Given the description of an element on the screen output the (x, y) to click on. 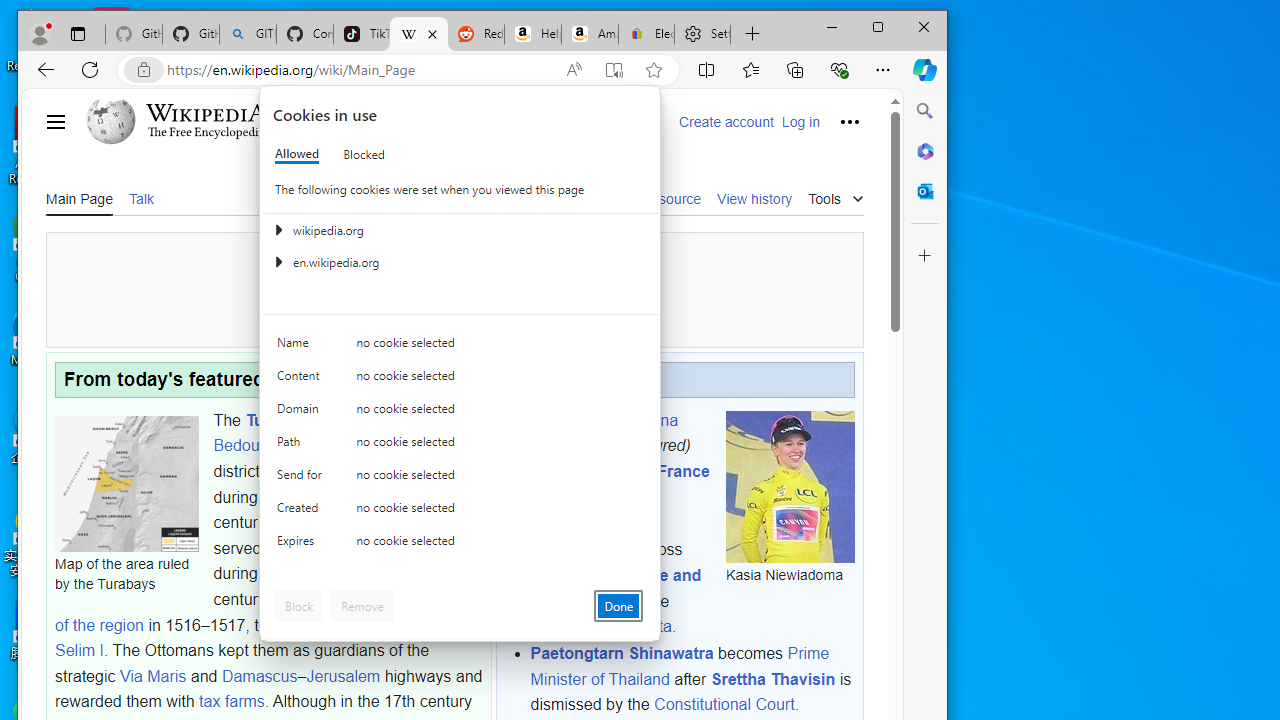
Send for (302, 479)
Done (617, 605)
Created (302, 511)
Blocked (363, 153)
Class: c0153 c0157 (460, 545)
Allowed (296, 153)
no cookie selected (500, 544)
Block (299, 605)
Expires (302, 544)
Class: c0153 c0157 c0154 (460, 347)
Domain (302, 413)
Name (302, 346)
Remove (362, 605)
Content (302, 380)
Path (302, 446)
